Given the description of an element on the screen output the (x, y) to click on. 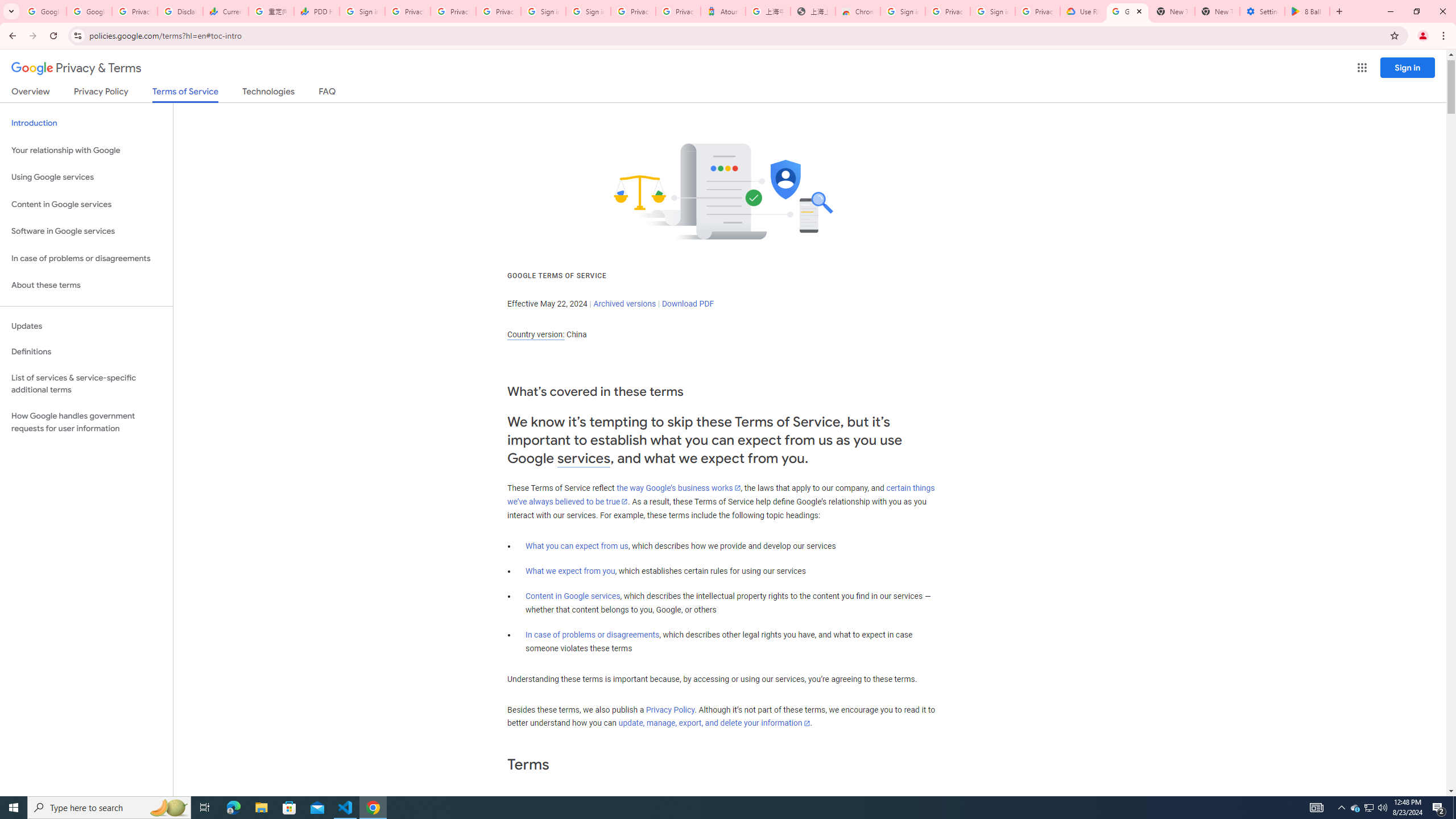
services (583, 458)
Sign in - Google Accounts (902, 11)
How Google handles government requests for user information (86, 422)
Your relationship with Google (86, 150)
Google Workspace Admin Community (43, 11)
What you can expect from us (576, 545)
Settings - System (1262, 11)
In case of problems or disagreements (592, 634)
About these terms (86, 284)
Chrome Web Store - Color themes by Chrome (857, 11)
